Given the description of an element on the screen output the (x, y) to click on. 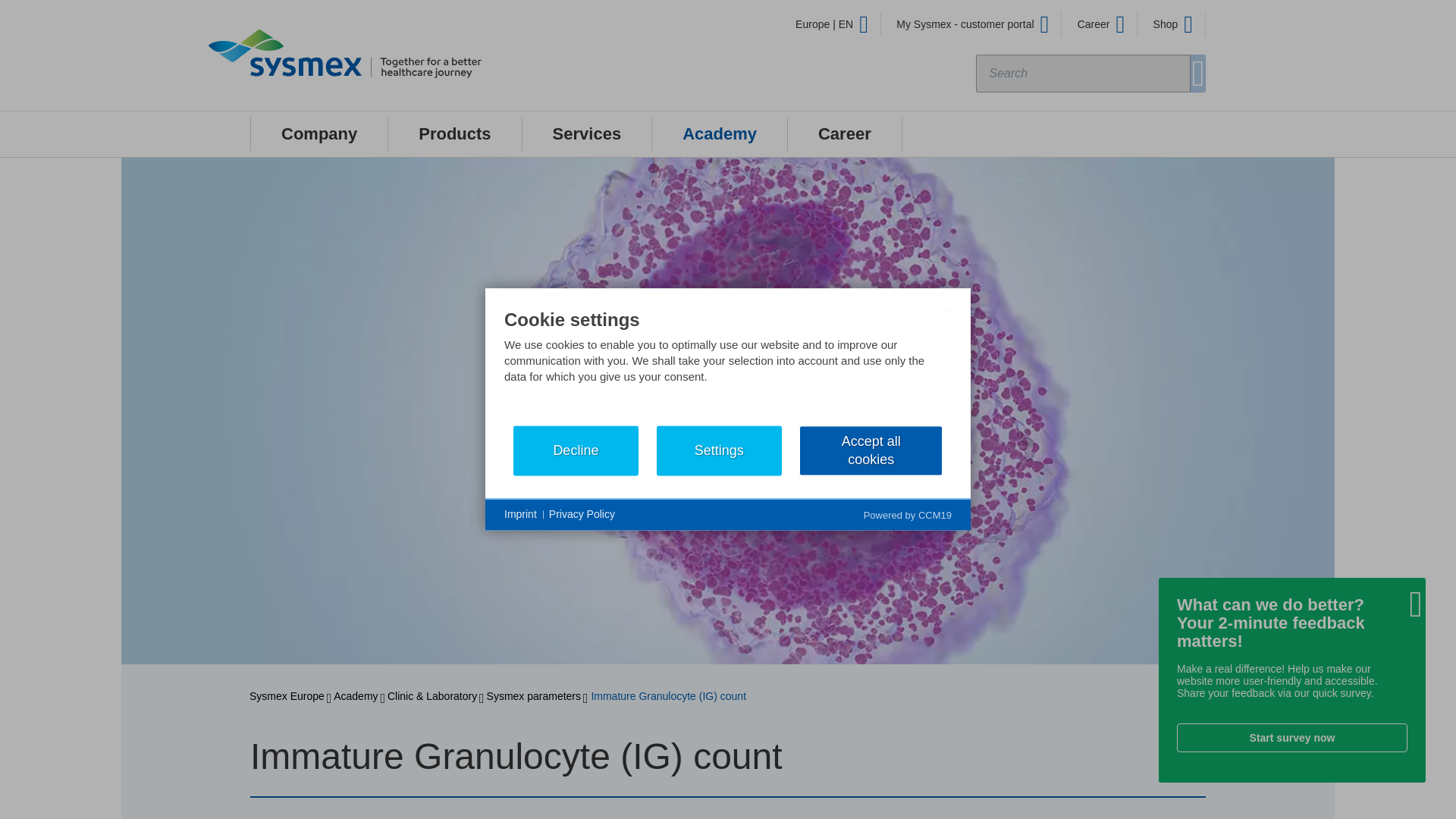
Shop (1173, 24)
My Sysmex - customer portal (972, 24)
Career (1101, 24)
